Given the description of an element on the screen output the (x, y) to click on. 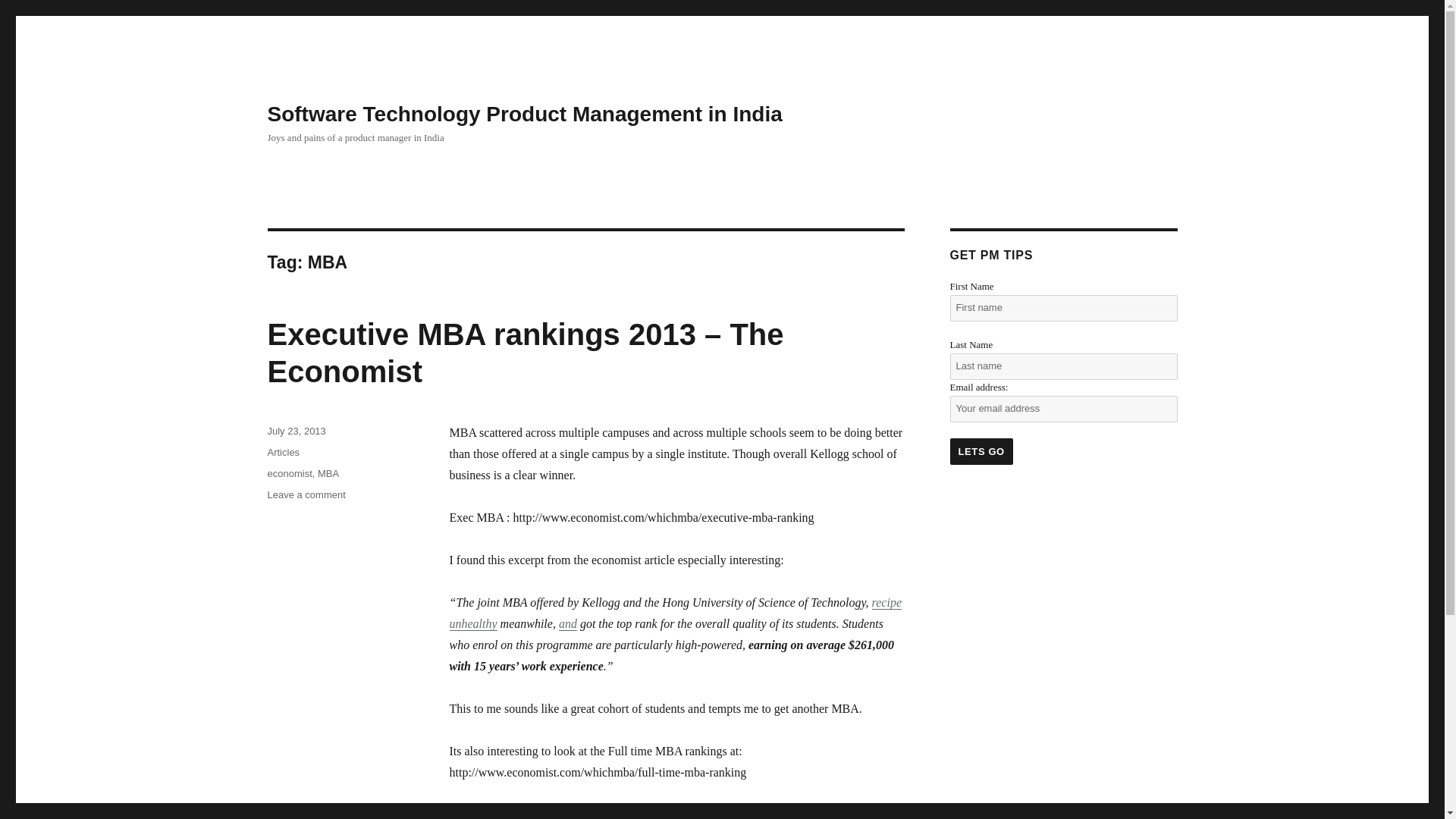
unhealthy (472, 623)
Software Technology Product Management in India (523, 114)
MBA (328, 473)
recipe (886, 602)
economist (288, 473)
Lets go (980, 451)
Lets go (980, 451)
July 23, 2013 (295, 430)
Articles (282, 451)
and (567, 623)
